Given the description of an element on the screen output the (x, y) to click on. 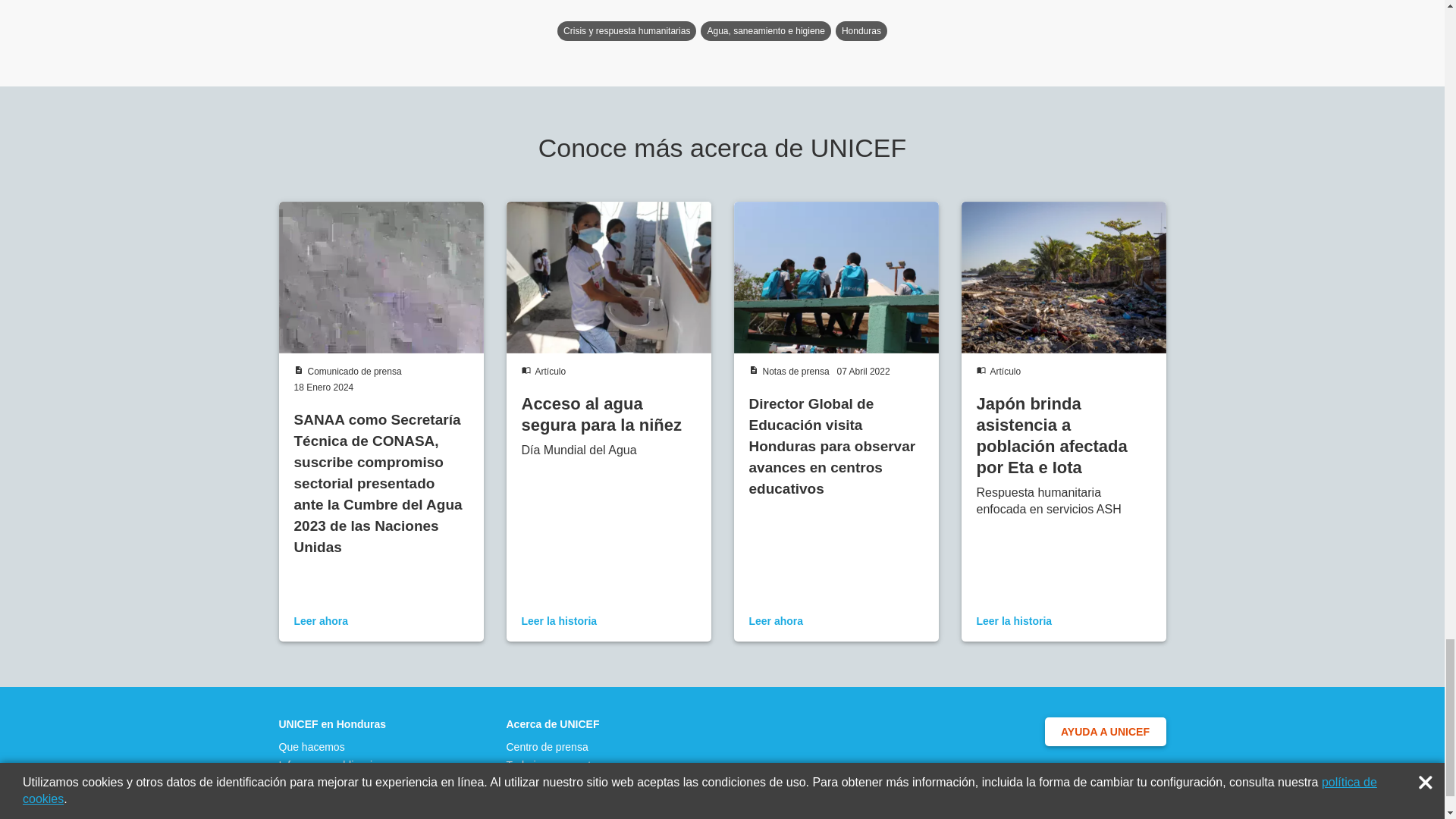
Honduras (860, 30)
UNICEF en Honduras (337, 724)
Agua, saneamiento e higiene (764, 30)
Informes y publicaciones (337, 765)
Crisis y respuesta humanitarias (626, 30)
Que hacemos (337, 746)
Informes y publicaciones (337, 765)
Que hacemos (337, 746)
Centro de prensa (555, 746)
Historias de vida (337, 783)
Acerca de UNICEF (555, 724)
Historias de vida (337, 783)
UNICEF en Honduras (337, 724)
Trabaja con nosotros (555, 765)
